Given the description of an element on the screen output the (x, y) to click on. 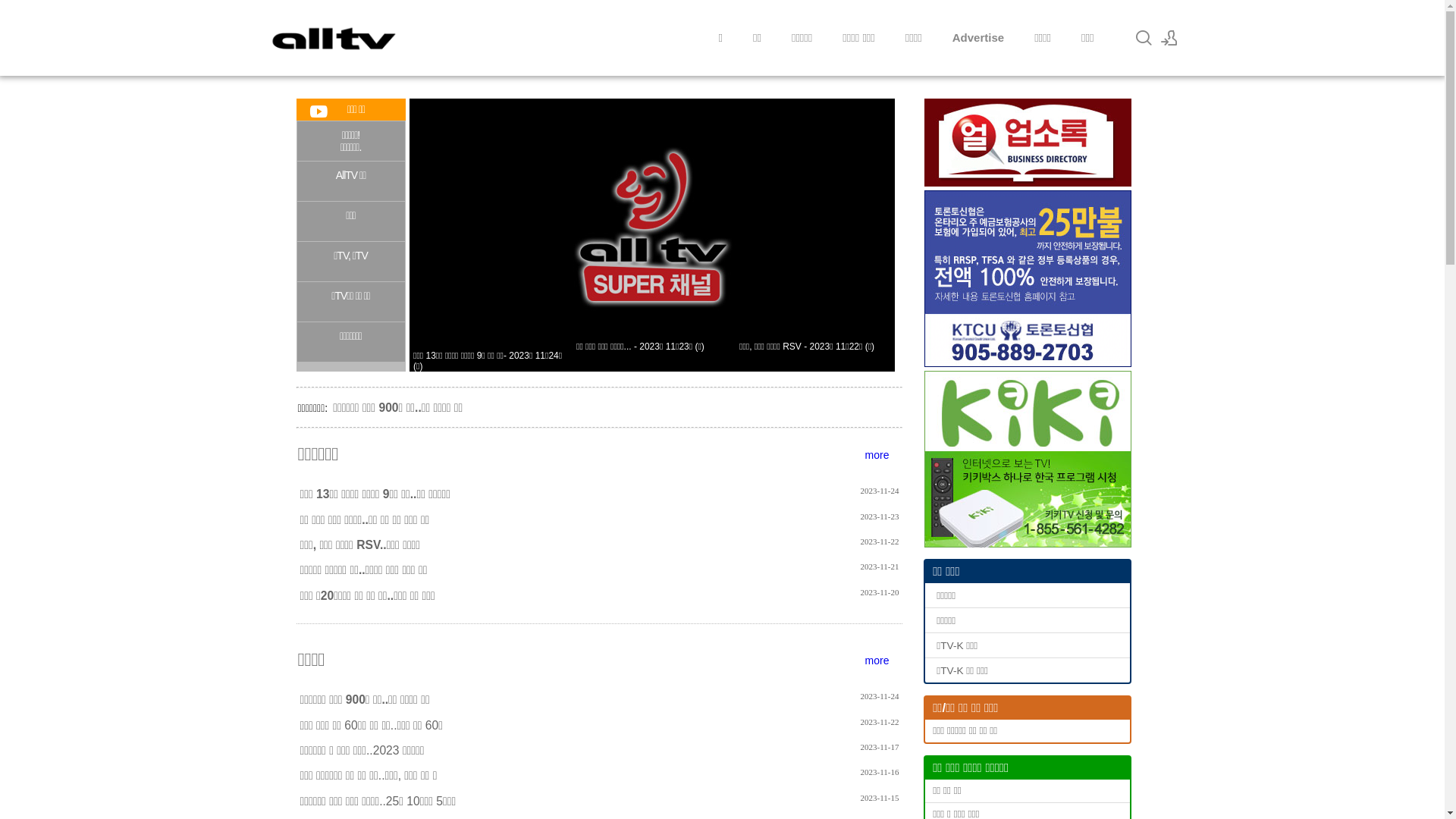
Advertise Element type: text (978, 37)
more Element type: text (877, 660)
more Element type: text (877, 454)
3rd party ad content Element type: hover (1026, 278)
